Given the description of an element on the screen output the (x, y) to click on. 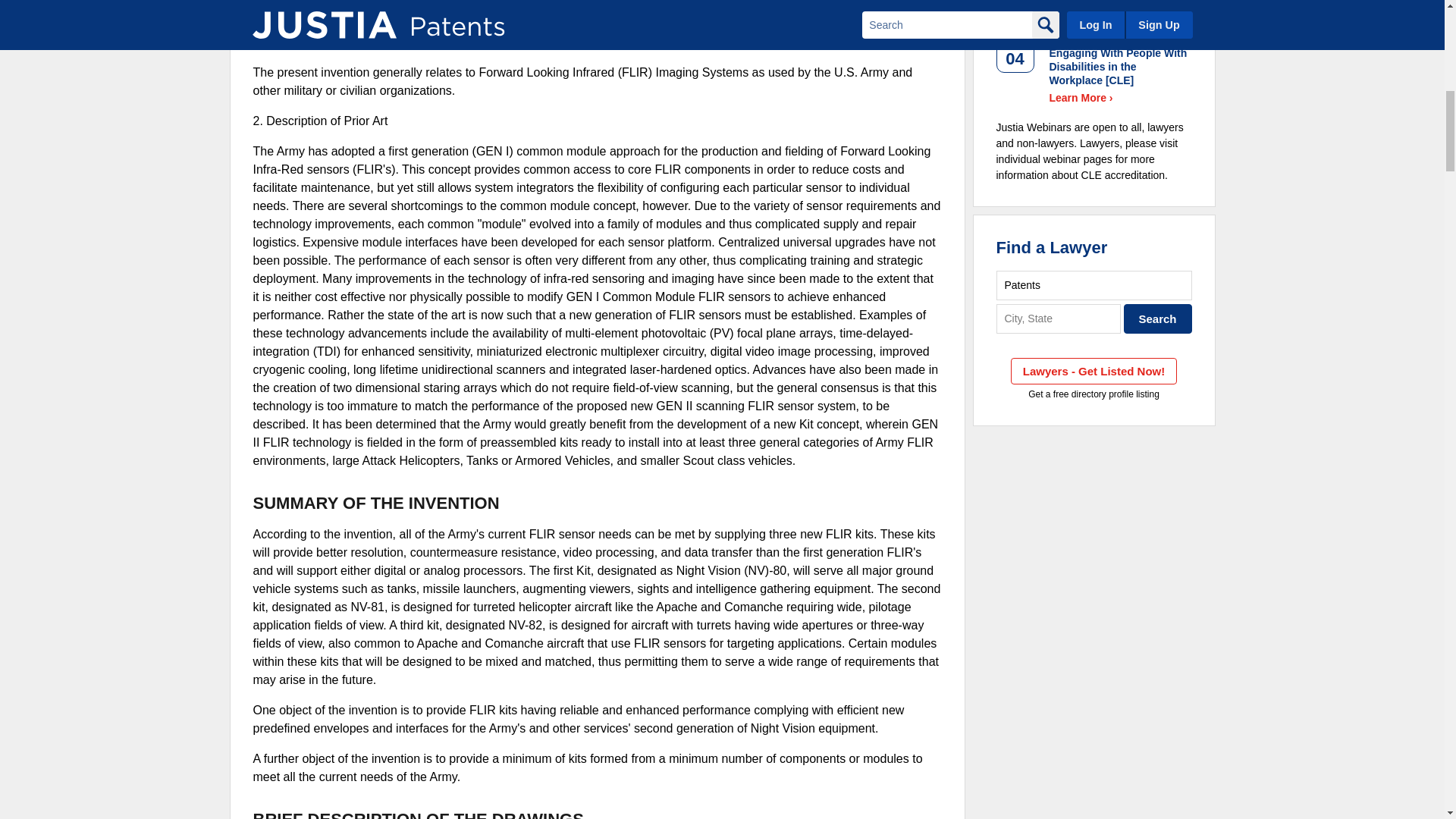
City, State (1058, 318)
Search (1158, 318)
Search (1158, 318)
Patents (1093, 285)
Legal Issue or Lawyer Name (1093, 285)
